Given the description of an element on the screen output the (x, y) to click on. 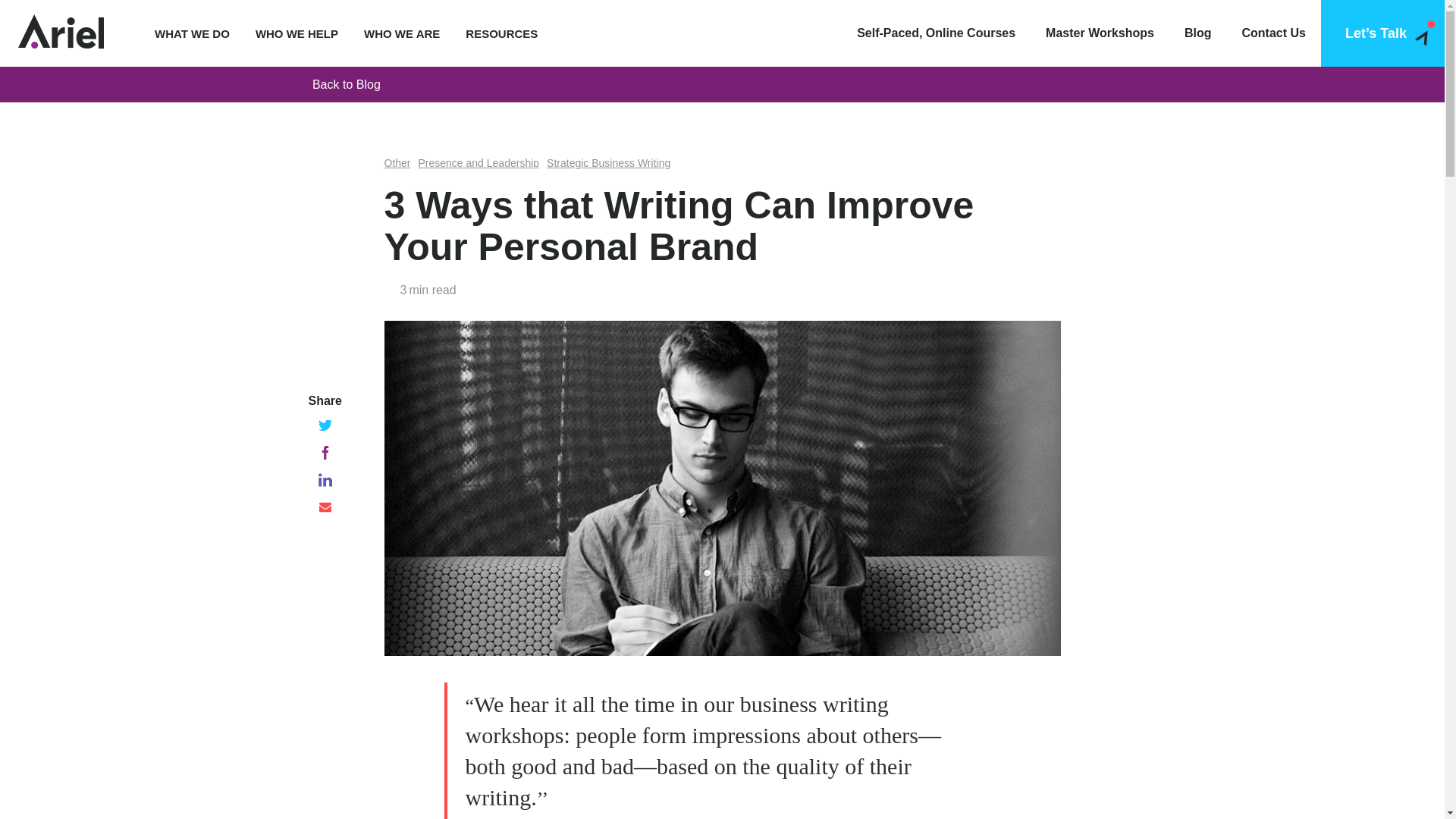
Share on LinkedIn (324, 479)
Share on Twitter (324, 425)
Share on Facebook (324, 452)
WHAT WE DO (192, 33)
Share via Email (324, 507)
Go to home page (60, 33)
